Given the description of an element on the screen output the (x, y) to click on. 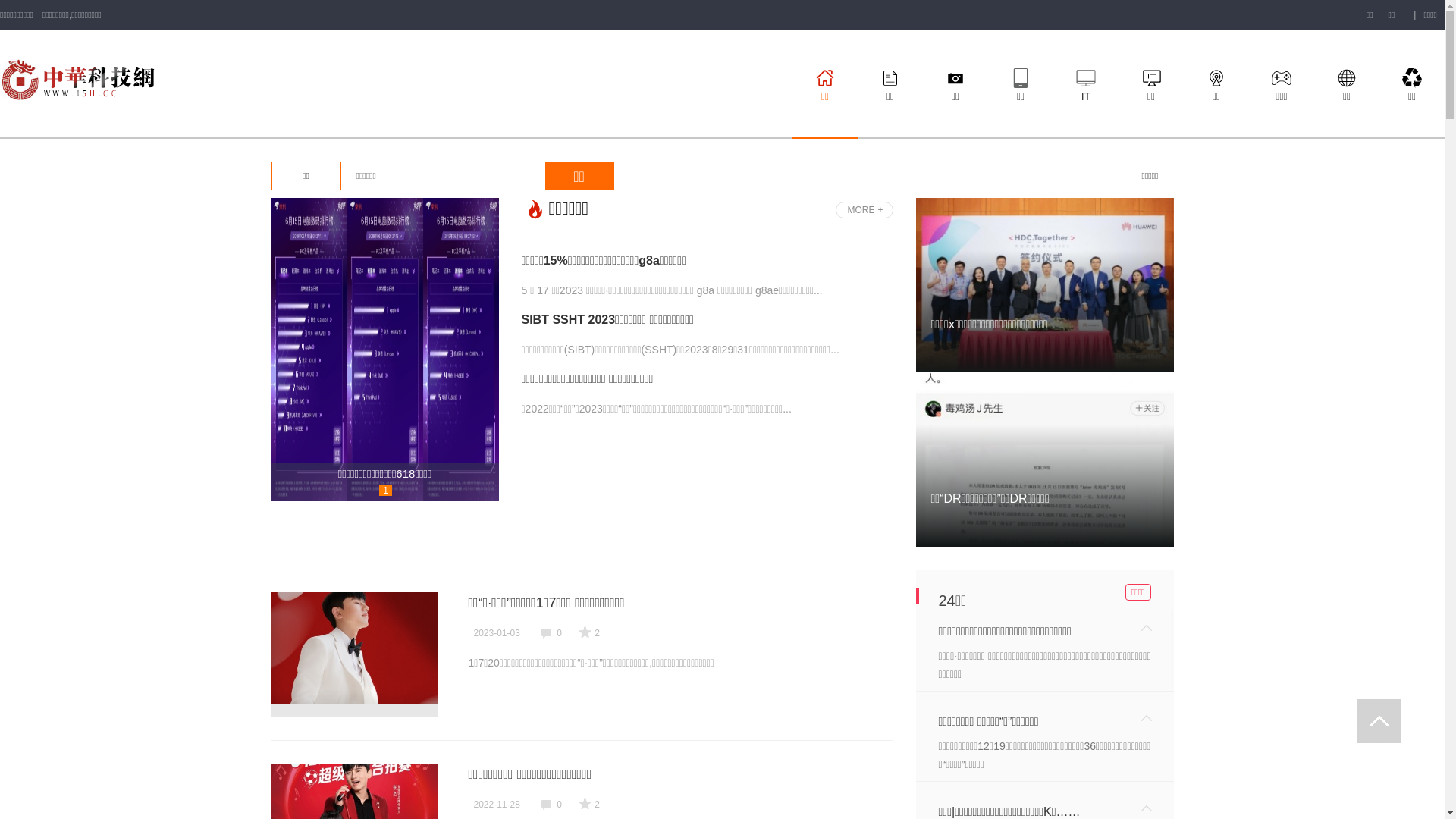
IT Element type: text (1085, 83)
  Element type: text (1379, 721)
MORE Element type: text (863, 209)
